Given the description of an element on the screen output the (x, y) to click on. 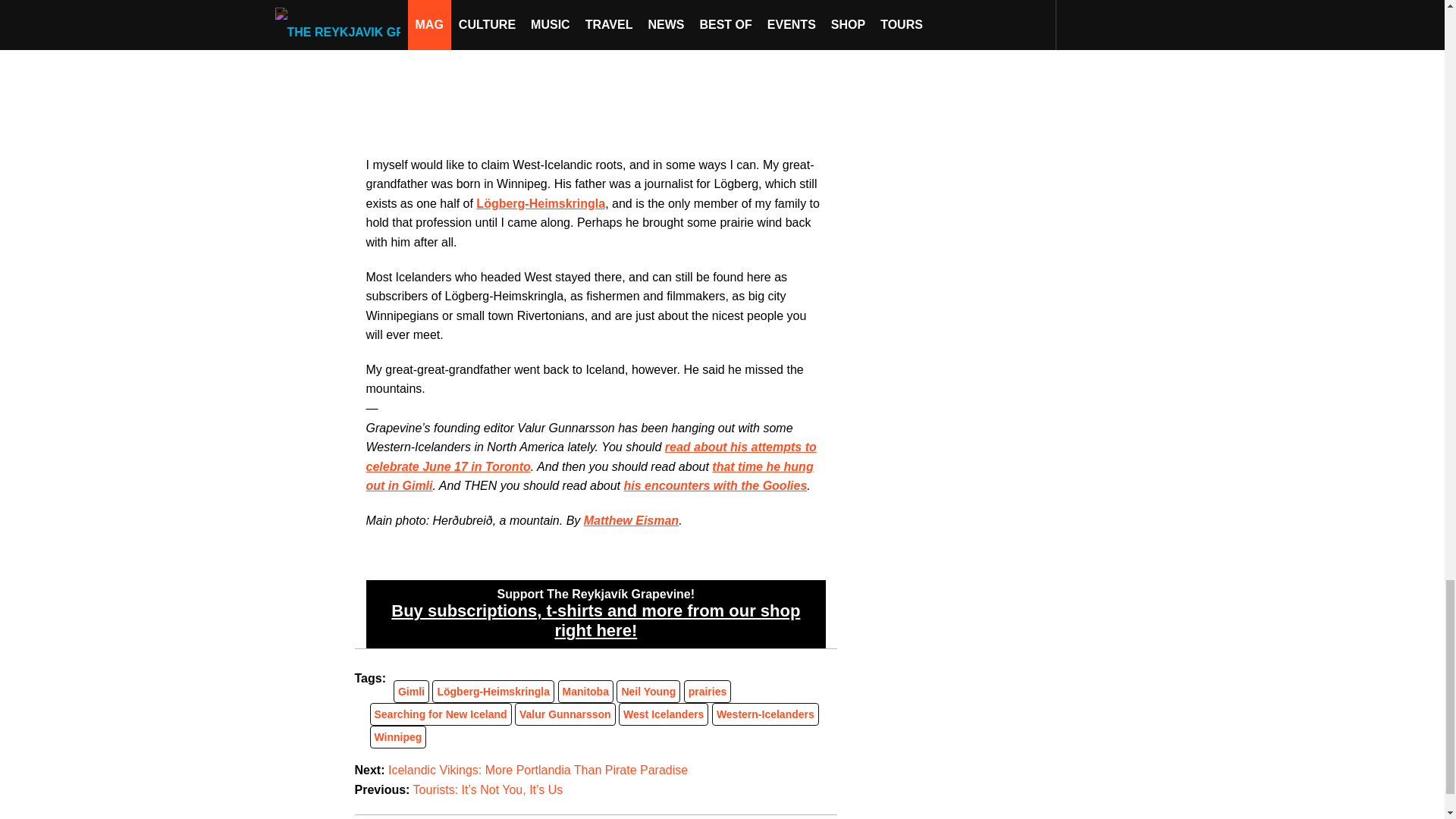
his encounters with the Goolies (714, 485)
that time he hung out in Gimli (588, 476)
Searching for New Iceland (440, 714)
Western-Icelanders (764, 714)
prairies (707, 691)
read about his attempts to celebrate June 17 in Toronto (590, 456)
Matthew Eisman (630, 520)
Icelandic Vikings: More Portlandia Than Pirate Paradise (537, 769)
Neil Young (648, 691)
West Icelanders (663, 714)
Gimli (411, 691)
Manitoba (585, 691)
Valur Gunnarsson (565, 714)
Winnipeg (398, 736)
